Given the description of an element on the screen output the (x, y) to click on. 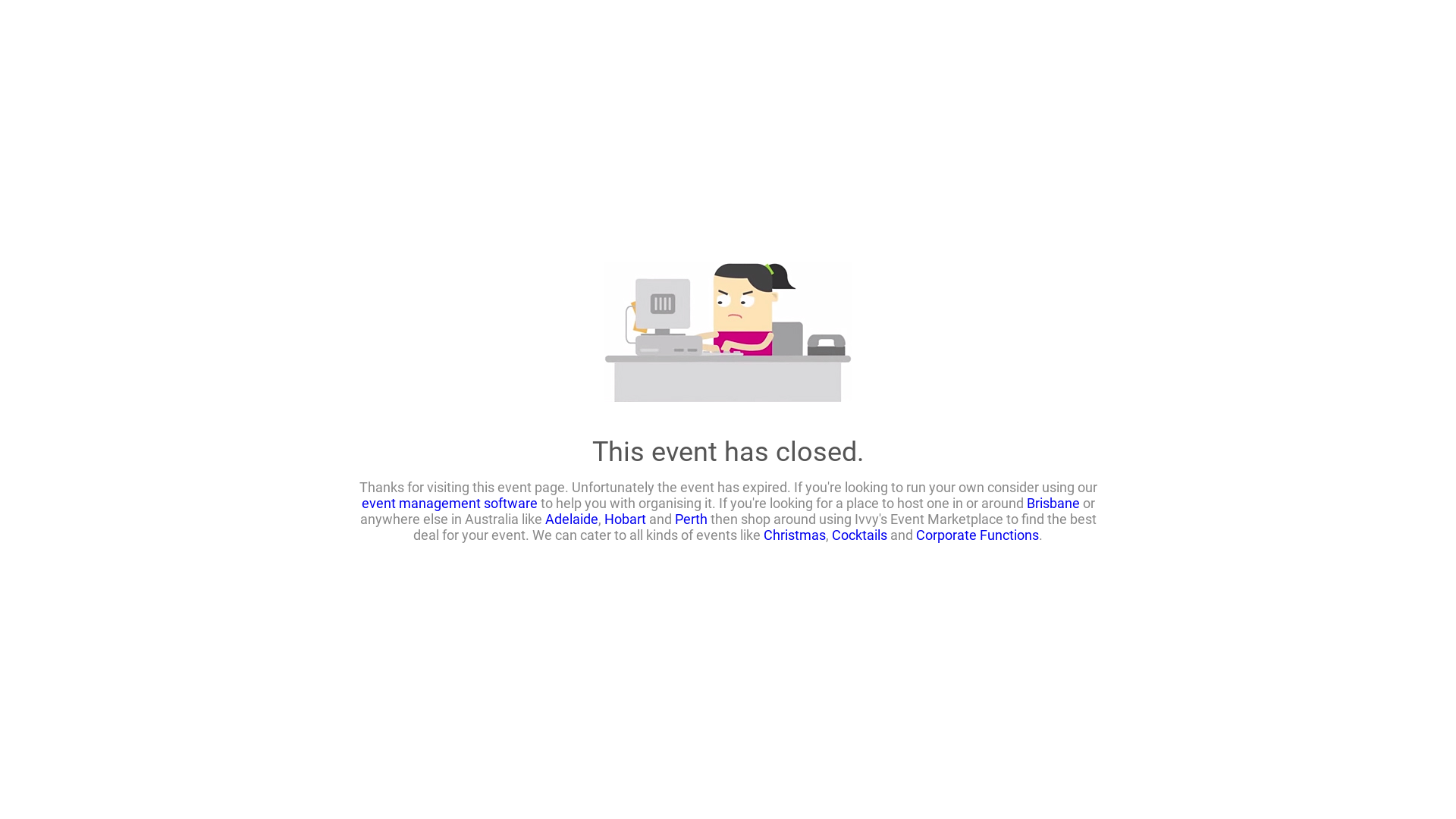
Christmas Element type: text (794, 534)
Corporate Functions Element type: text (977, 534)
event management software Element type: text (448, 502)
Perth Element type: text (690, 519)
Brisbane Element type: text (1052, 502)
Cocktails Element type: text (859, 534)
Hobart Element type: text (624, 519)
Adelaide Element type: text (570, 519)
